Given the description of an element on the screen output the (x, y) to click on. 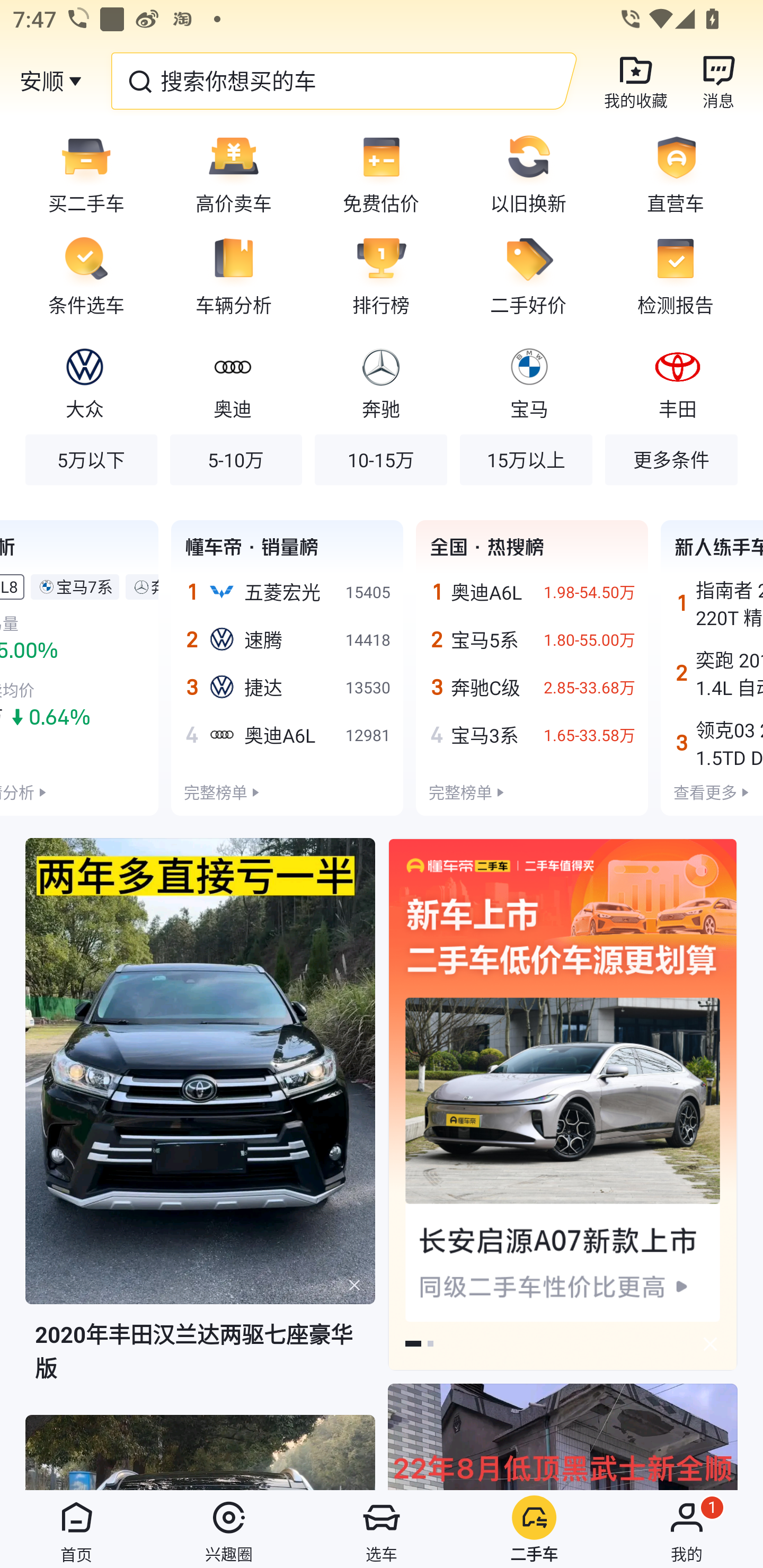
我的收藏 (635, 80)
安顺 (41, 80)
买二手车 (80, 172)
高价卖车 (233, 172)
免费估价 (380, 172)
以旧换新 (528, 172)
直营车 (682, 172)
条件选车 (80, 274)
车辆分析 (233, 274)
排行榜 (380, 274)
二手好价 (528, 274)
检测报告 (682, 274)
大众 (84, 381)
奥迪 (232, 381)
奔驰 (380, 381)
宝马 (529, 381)
丰田 (677, 381)
5万以下 (91, 459)
5-10万 (236, 459)
10-15万 (380, 459)
15万以上 (526, 459)
更多条件 (671, 459)
别克GL8 (9, 585)
宝马7系 (84, 585)
1 五菱宏光 15405 (286, 591)
1 奥迪A6L 1.98-54.50万 (531, 591)
2 速腾 14418 (286, 639)
2 宝马5系 1.80-55.00万 (531, 639)
3 捷达 13530 (286, 686)
3 奔驰C级 2.85-33.68万 (531, 686)
4 奥迪A6L 12981 (286, 734)
4 宝马3系 1.65-33.58万 (531, 734)
完整行情分析 (17, 791)
完整榜单 (215, 791)
完整榜单 (460, 791)
查看更多 (705, 791)
2020年丰田汉兰达两驱七座豪华版 (200, 1125)
 首页 (76, 1528)
 兴趣圈 (228, 1528)
 选车 (381, 1528)
二手车 (533, 1528)
 我的 (686, 1528)
